Given the description of an element on the screen output the (x, y) to click on. 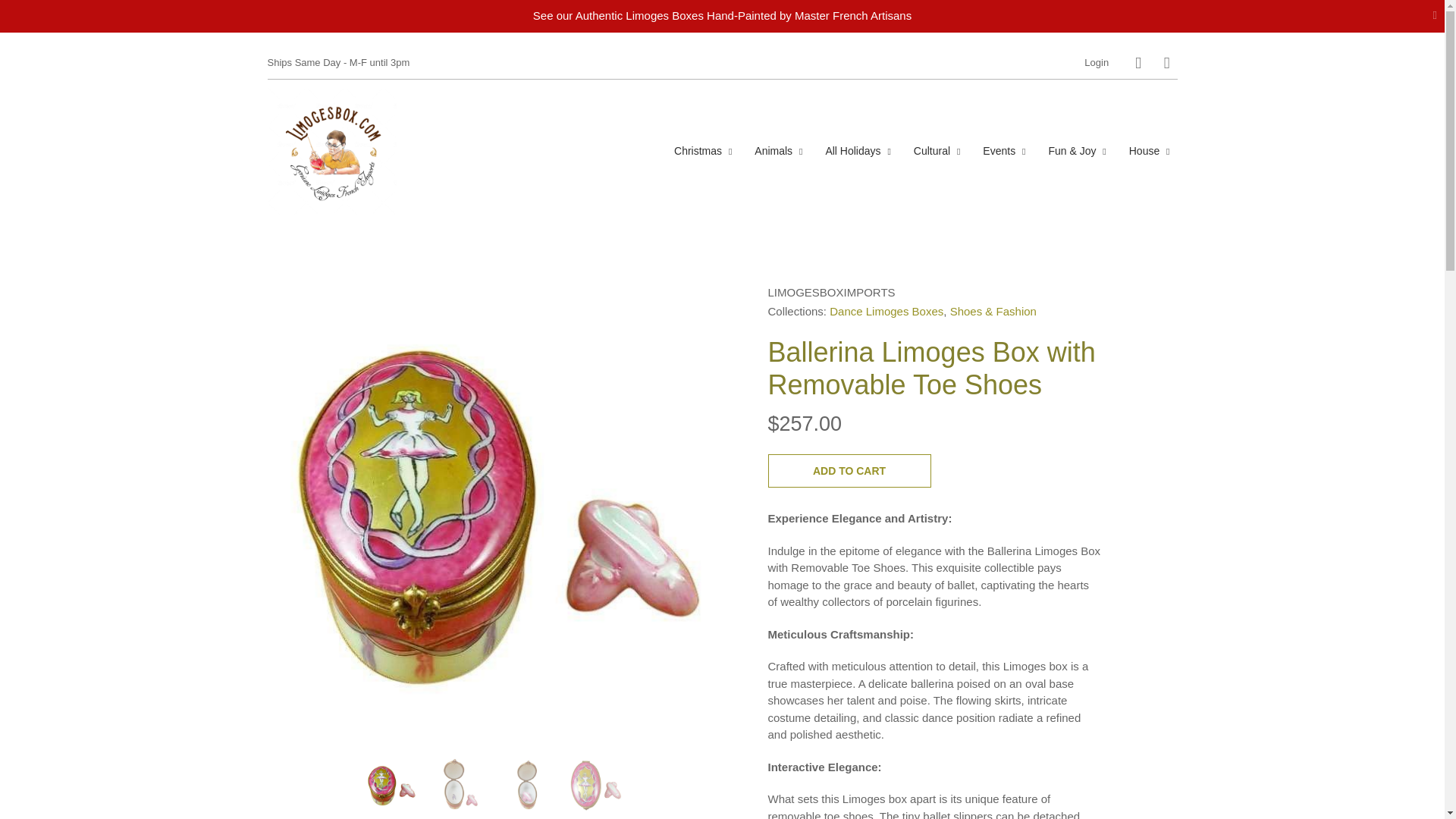
LimogesboxImports (831, 291)
Login (1096, 61)
Christmas (702, 150)
Animals (777, 150)
Dance Limoges Boxes (886, 310)
Cultural (936, 150)
My Account  (1096, 61)
All Holidays (857, 150)
